Given the description of an element on the screen output the (x, y) to click on. 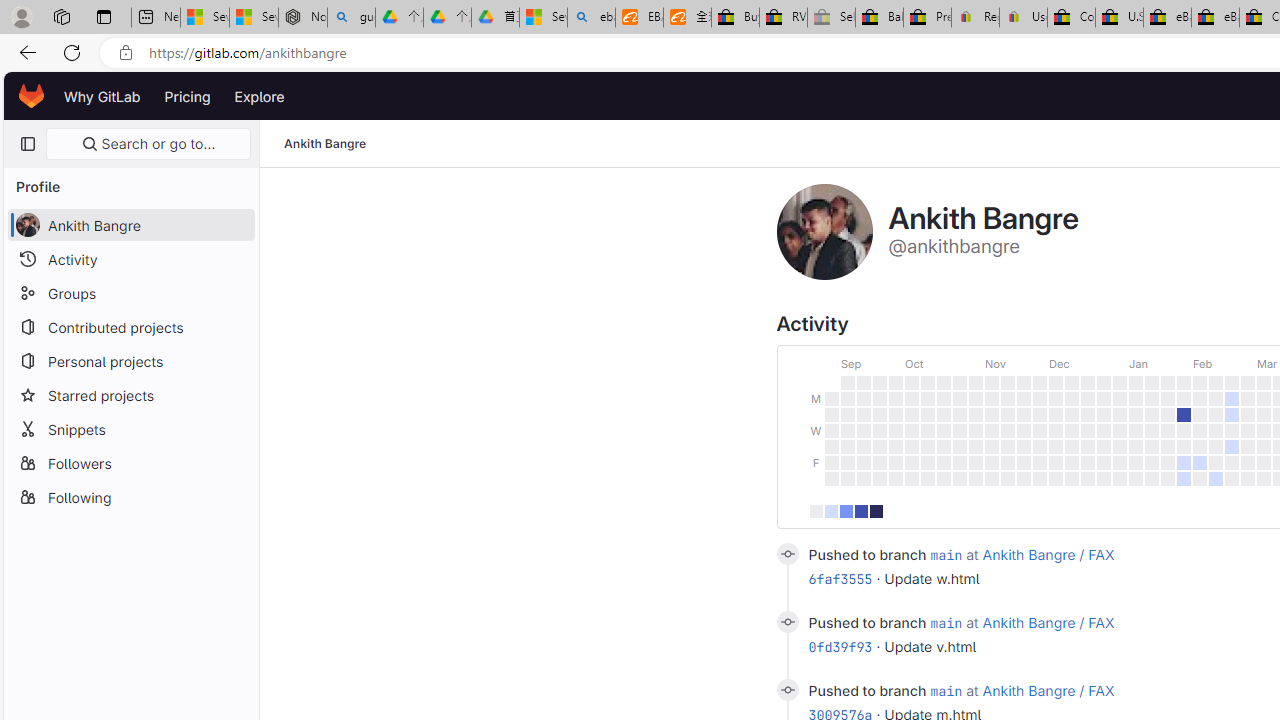
Contributed projects (130, 326)
